Given the description of an element on the screen output the (x, y) to click on. 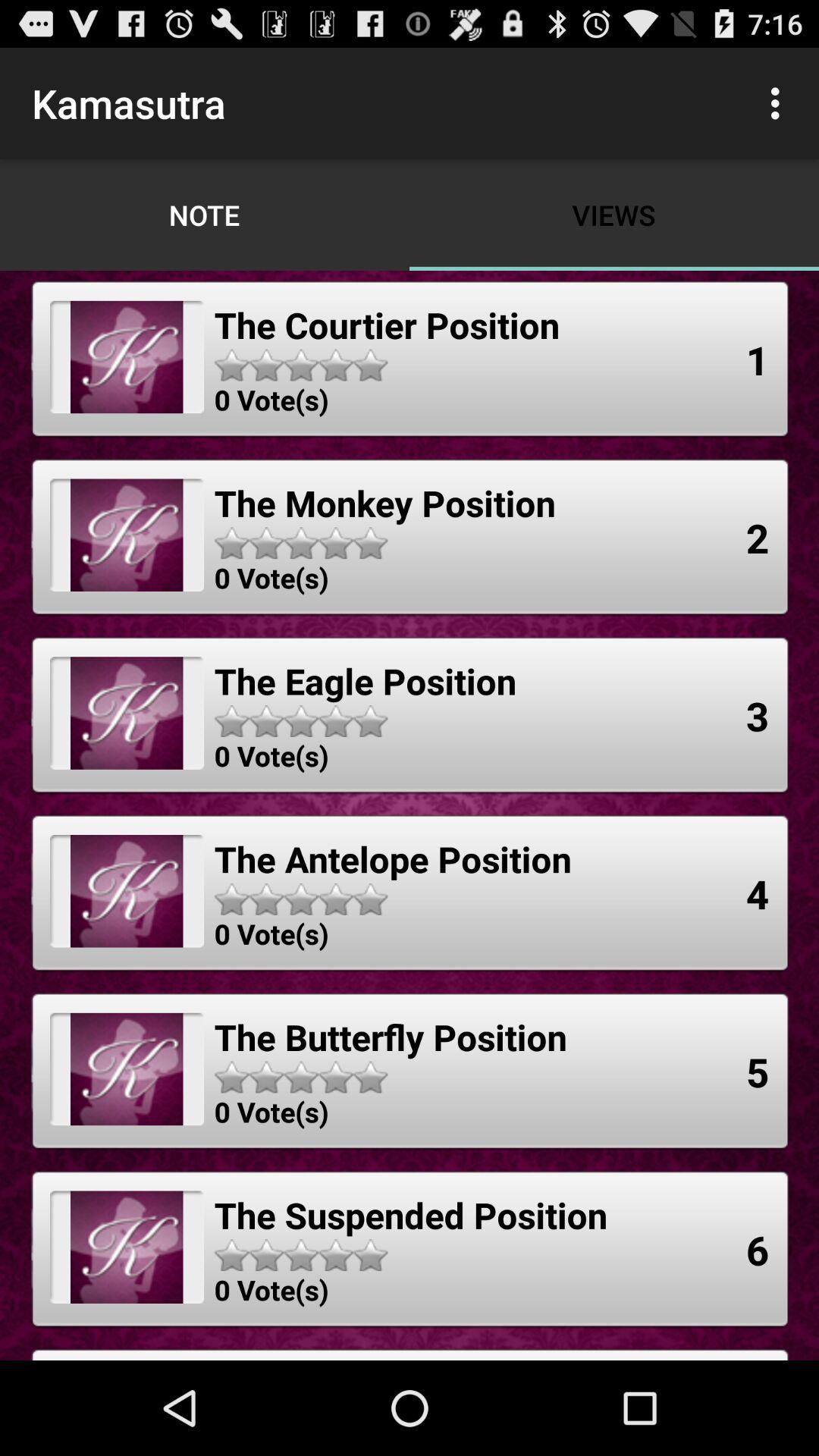
click the the antelope position app (392, 858)
